Given the description of an element on the screen output the (x, y) to click on. 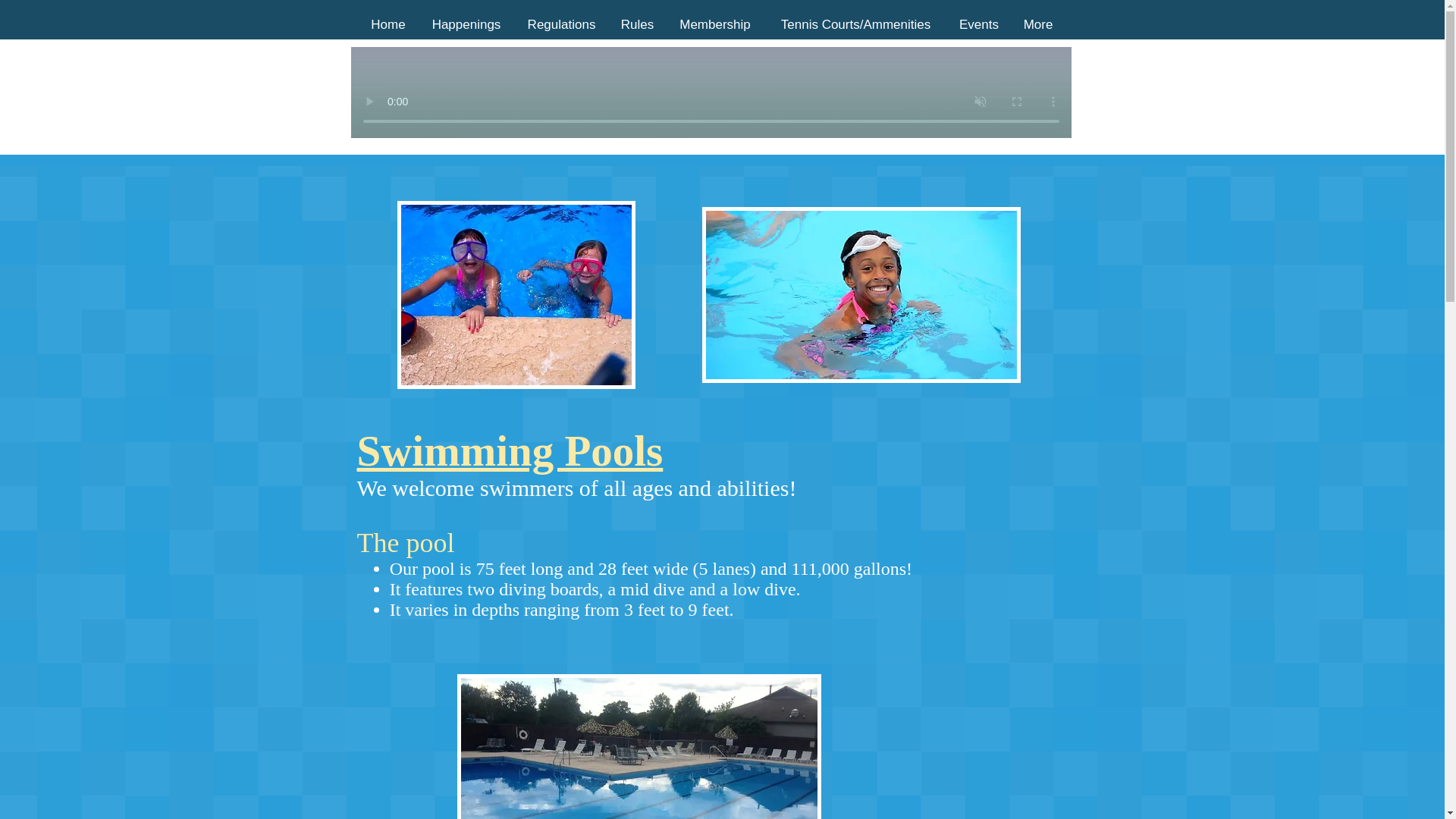
Membership (713, 23)
Home (387, 23)
Rules (637, 23)
Events (978, 23)
Happenings (466, 23)
Regulations (560, 23)
